Given the description of an element on the screen output the (x, y) to click on. 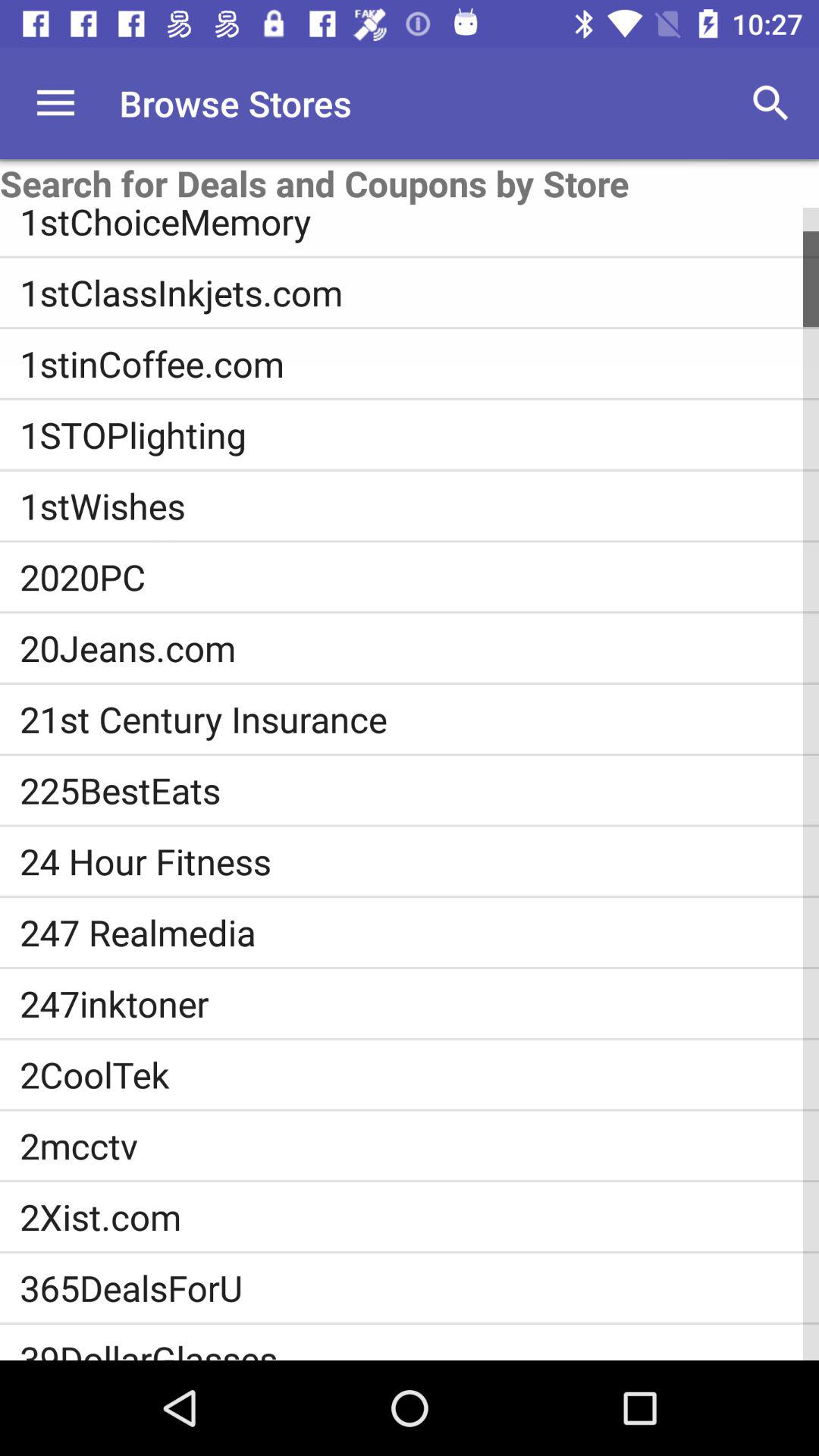
select icon below 1stclassinkjets.com item (419, 363)
